Given the description of an element on the screen output the (x, y) to click on. 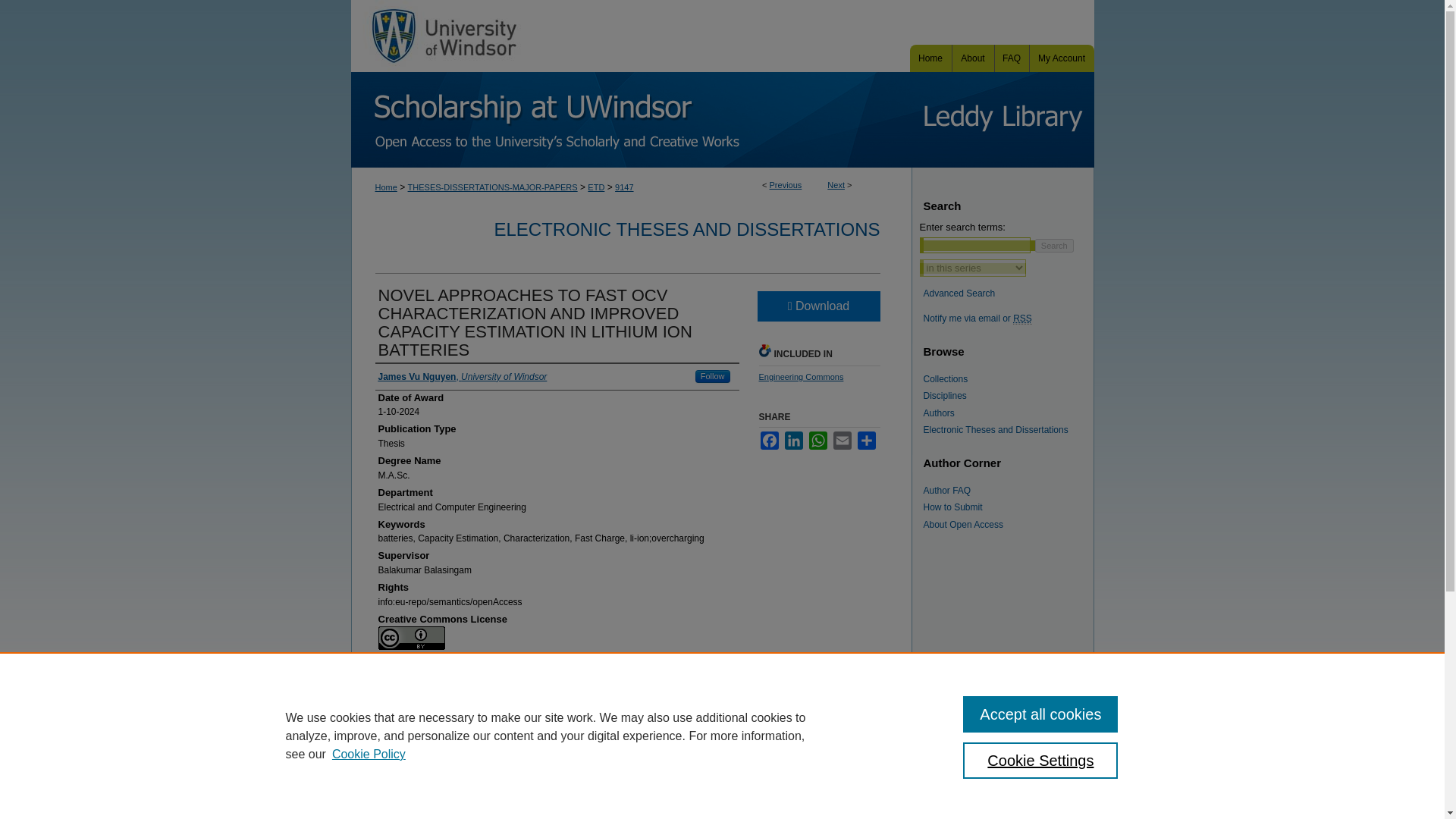
Follow (712, 376)
Scholarship at UWindsor (630, 119)
Share (866, 440)
Email or RSS Notifications (1008, 317)
About (973, 58)
Home (931, 58)
Facebook (768, 440)
University of Windsor (443, 36)
My Account (1061, 58)
My Account (1061, 58)
THESES-DISSERTATIONS-MAJOR-PAPERS (492, 186)
Download (818, 306)
Home (931, 58)
ETD (596, 186)
LinkedIn (793, 440)
